Given the description of an element on the screen output the (x, y) to click on. 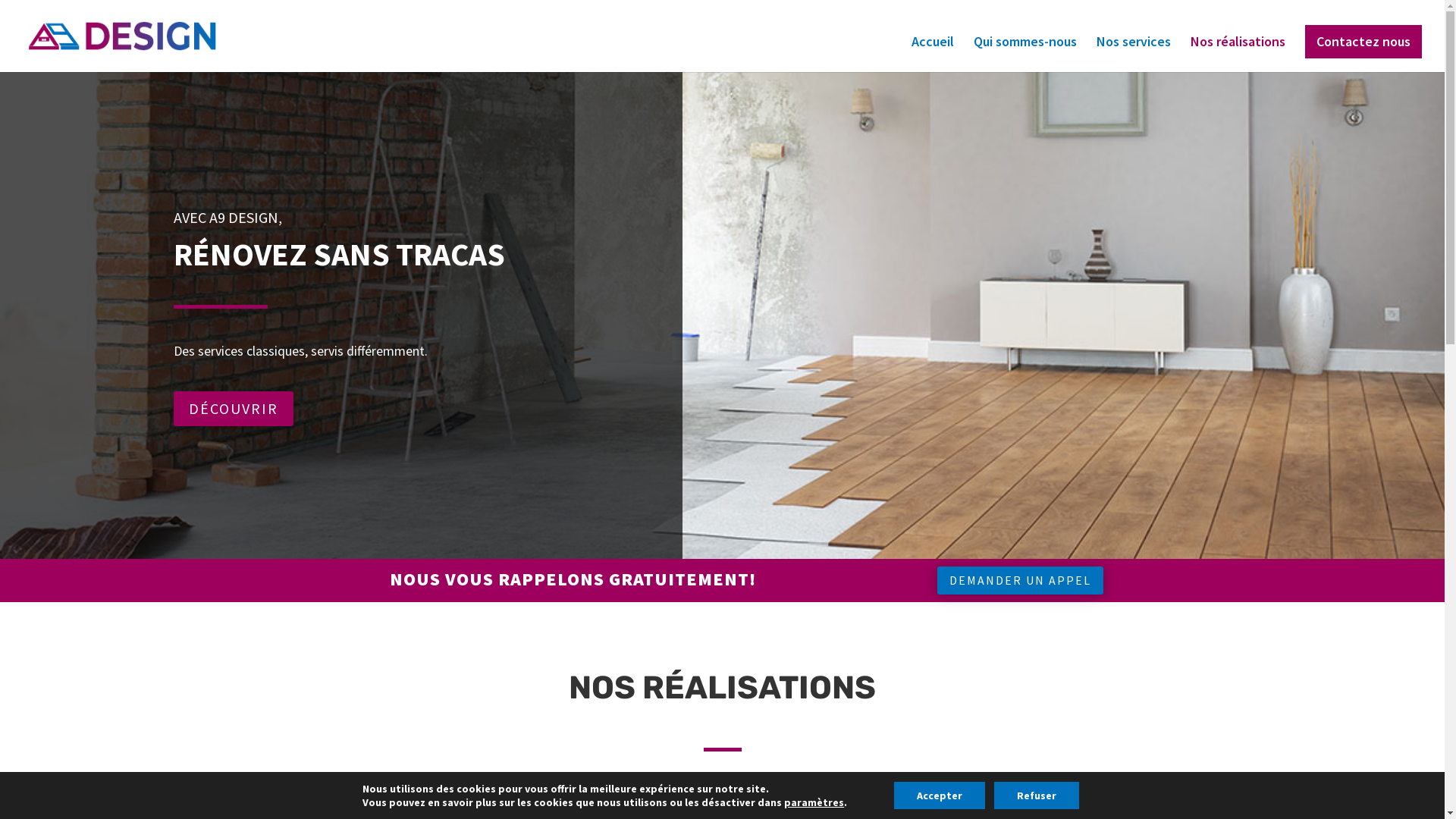
Refuser Element type: text (1036, 795)
Qui sommes-nous Element type: text (1024, 54)
Nos services Element type: text (1133, 54)
DEMANDER UN APPEL Element type: text (1020, 580)
Accueil Element type: text (932, 54)
Contactez nous Element type: text (1363, 41)
Accepter Element type: text (939, 795)
